Given the description of an element on the screen output the (x, y) to click on. 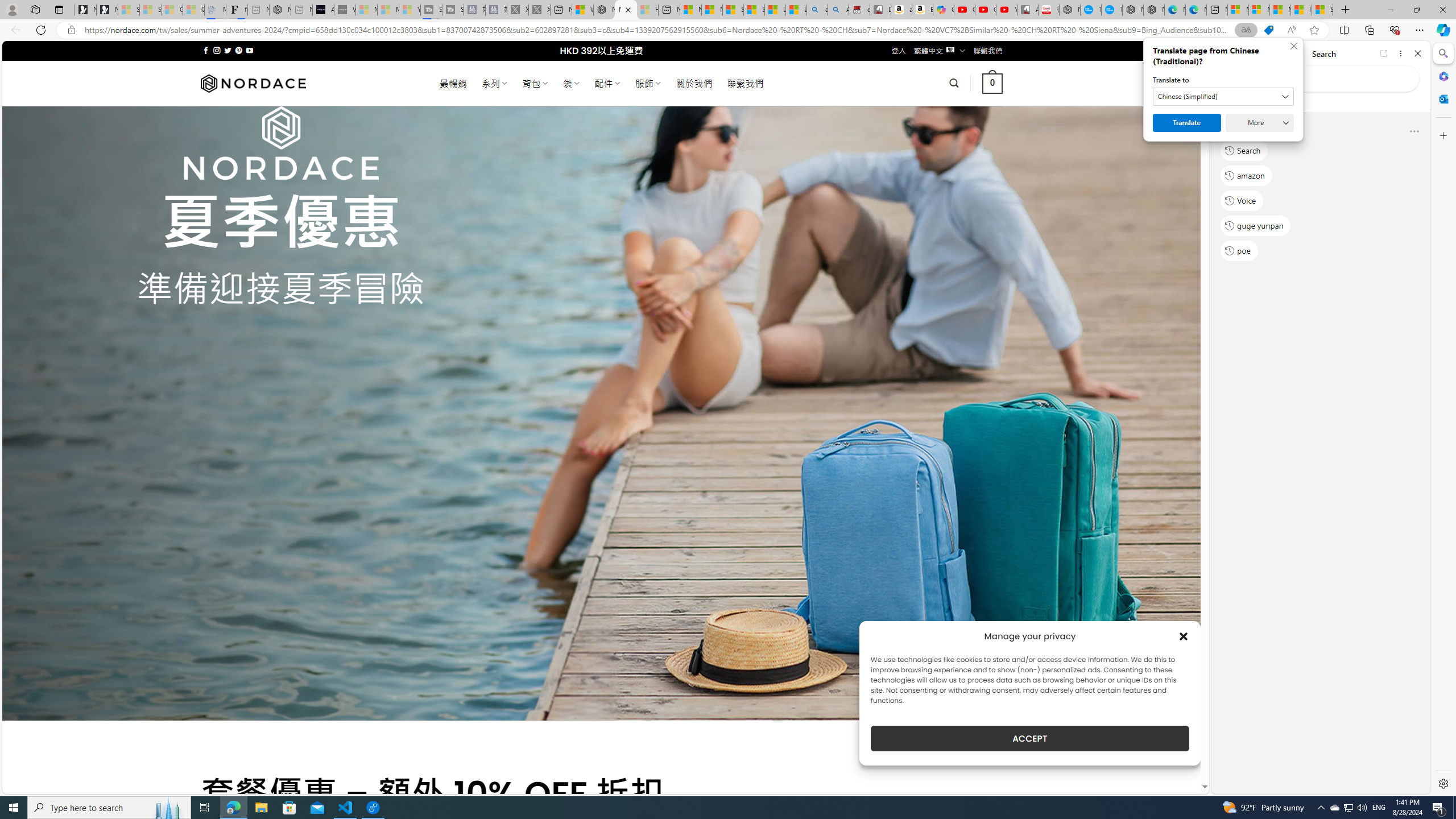
More (1259, 122)
Recent searchesSearchamazonVoiceguge yunpanpoe (1320, 194)
  0   (992, 83)
poe (1238, 250)
